Given the description of an element on the screen output the (x, y) to click on. 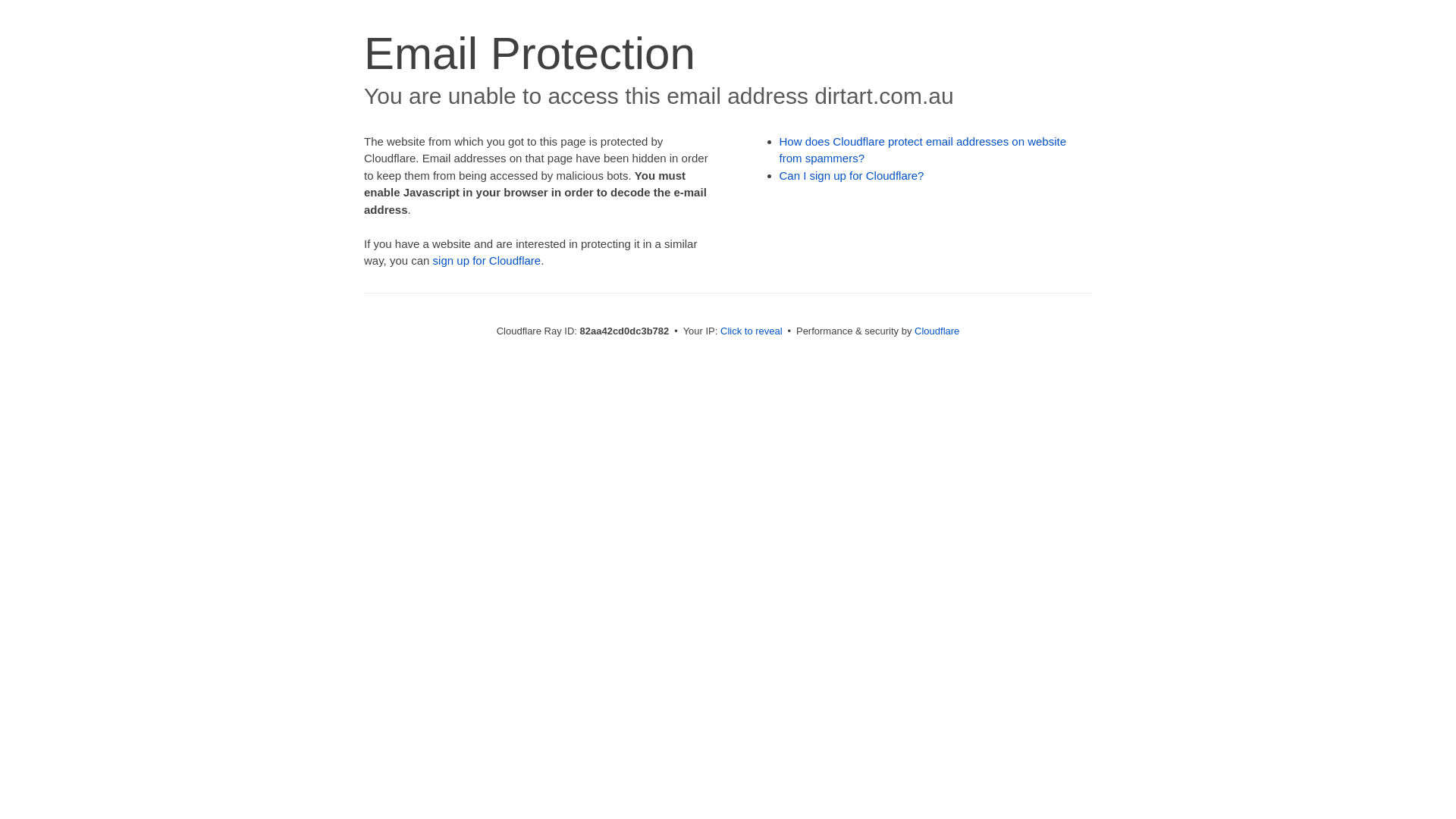
Can I sign up for Cloudflare? Element type: text (851, 175)
Click to reveal Element type: text (751, 330)
Cloudflare Element type: text (936, 330)
sign up for Cloudflare Element type: text (487, 260)
